Given the description of an element on the screen output the (x, y) to click on. 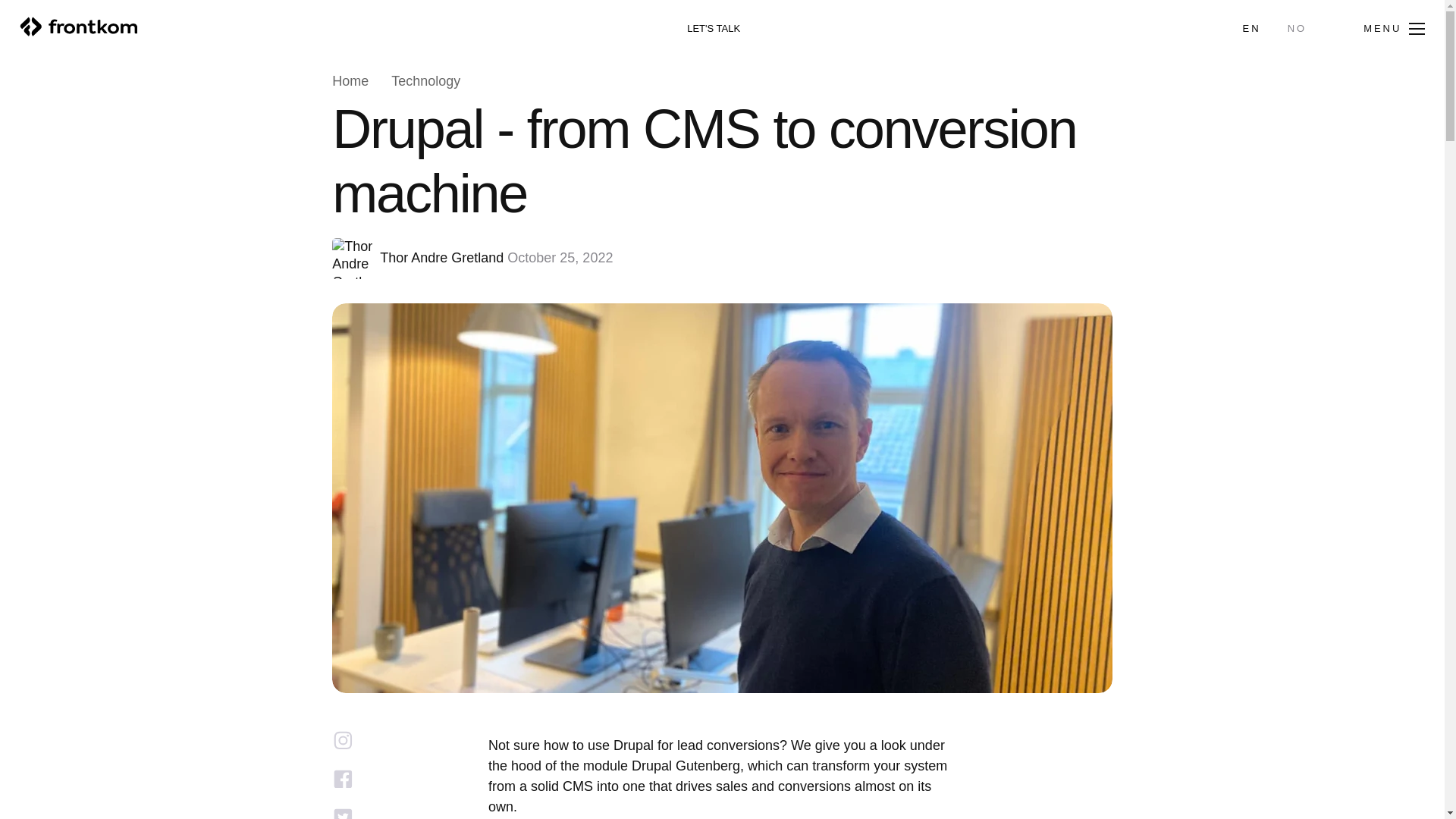
Services (44, 265)
LET'S TALK (713, 29)
Careers (40, 466)
Home (349, 81)
Thor Andre Gretland (441, 257)
Insights (39, 416)
Case studies (69, 315)
About us (45, 365)
EN (1251, 28)
Home (29, 214)
